Given the description of an element on the screen output the (x, y) to click on. 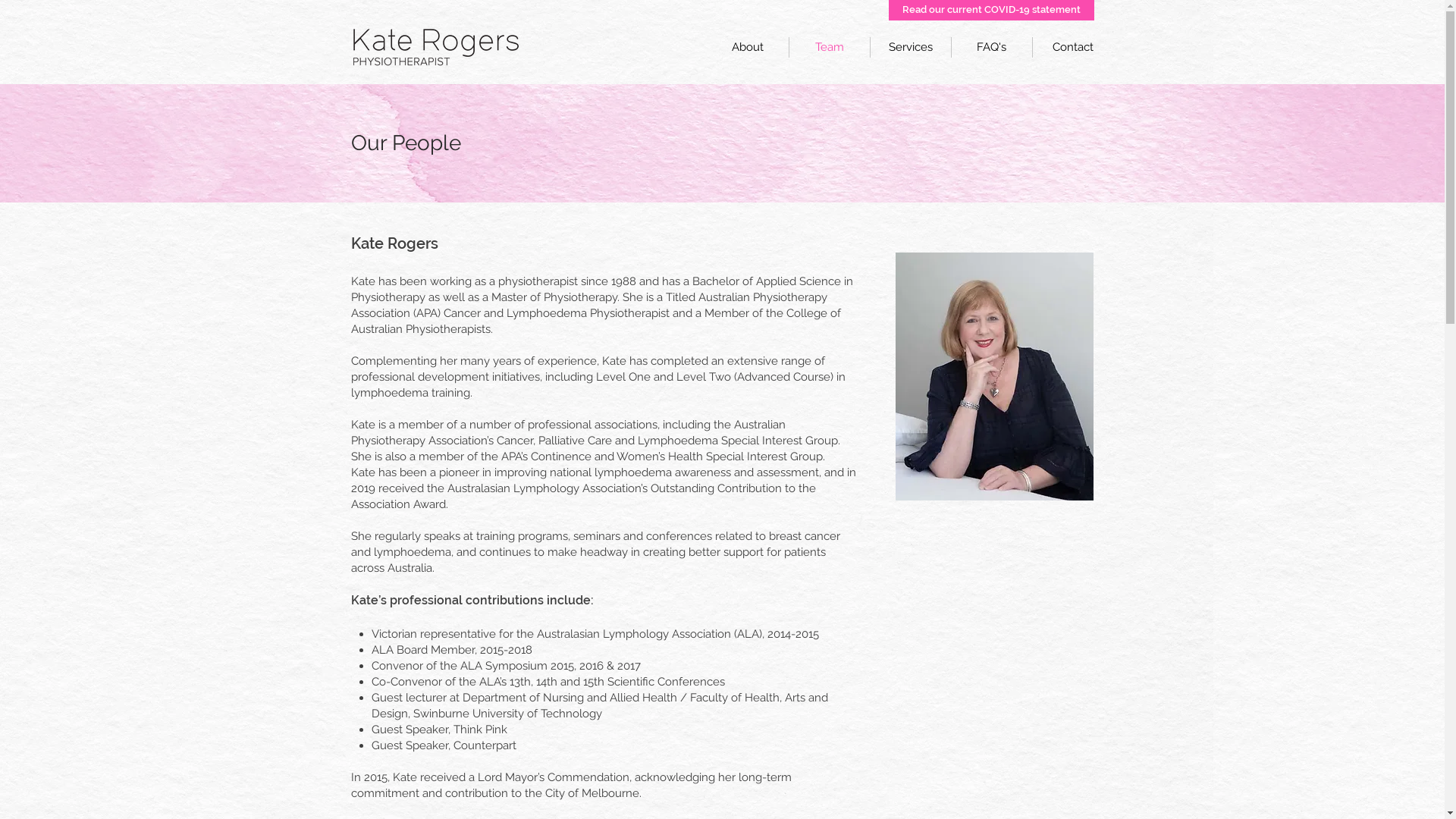
Team Element type: text (828, 47)
Contact Element type: text (1072, 47)
Read our current COVID-19 statement Element type: text (991, 10)
About Element type: text (747, 47)
FAQ's Element type: text (990, 47)
Services Element type: text (910, 47)
